Given the description of an element on the screen output the (x, y) to click on. 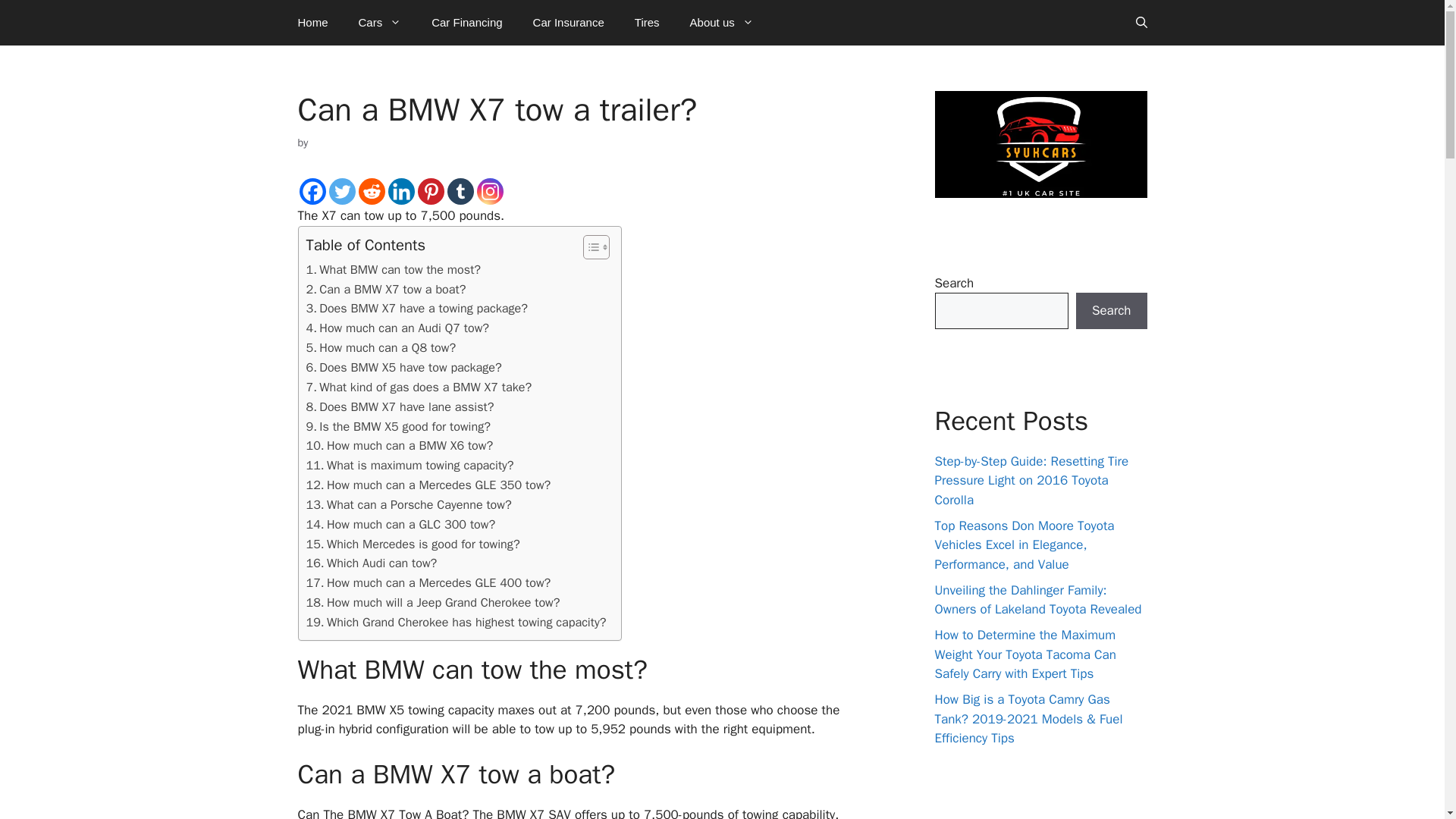
What BMW can tow the most? (393, 270)
Is the BMW X5 good for towing? (397, 426)
Tires (647, 22)
How much can a BMW X6 tow? (399, 445)
About us (721, 22)
Is the BMW X5 good for towing? (397, 426)
Does BMW X5 have tow package? (403, 367)
Can a BMW X7 tow a boat? (385, 289)
Linkedin (401, 191)
What is maximum towing capacity? (409, 465)
How much can a Q8 tow? (381, 347)
What kind of gas does a BMW X7 take? (418, 387)
Facebook (311, 191)
Cars (379, 22)
Car Insurance (569, 22)
